Given the description of an element on the screen output the (x, y) to click on. 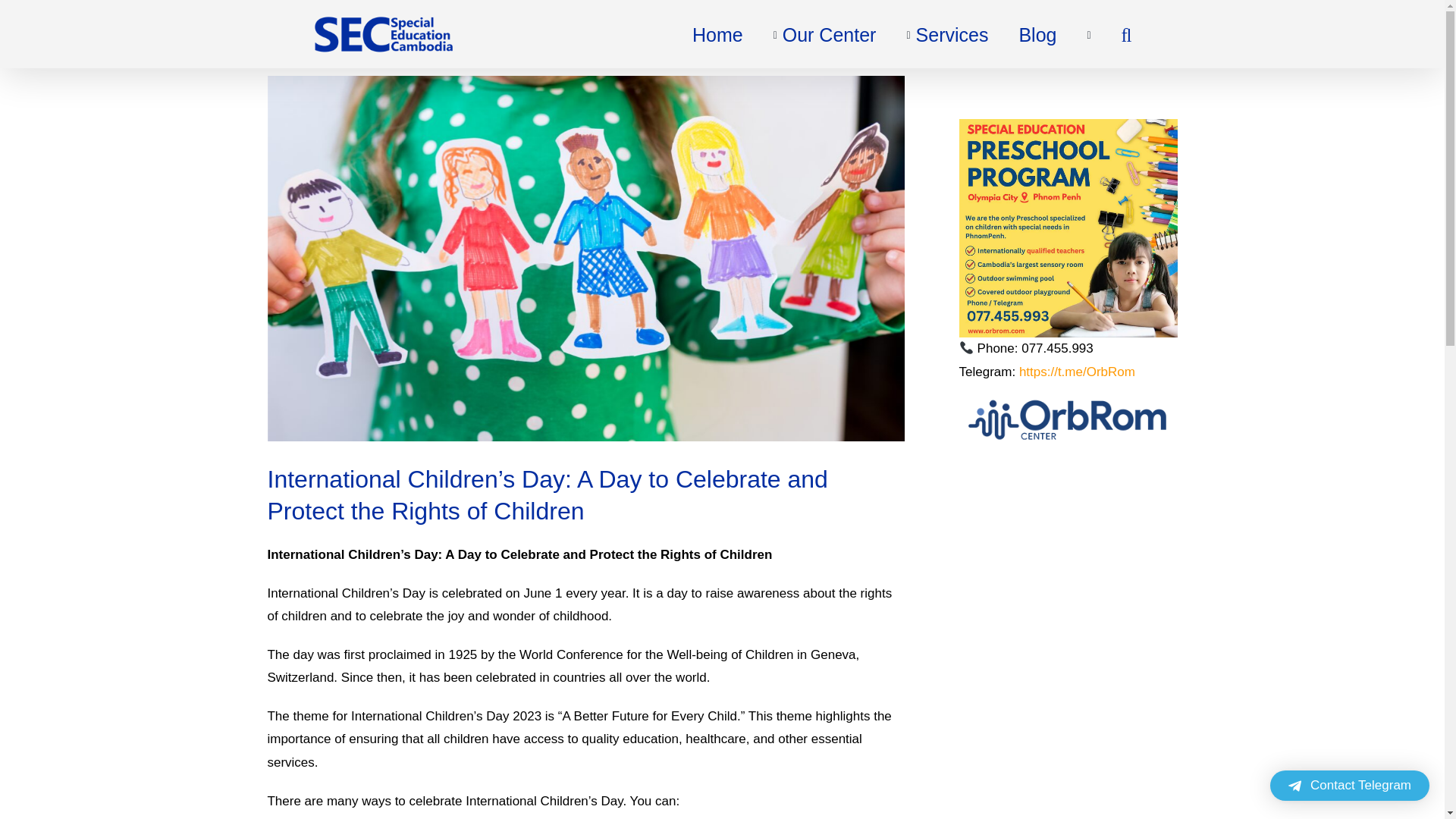
Services (946, 33)
Our Center (824, 33)
